Given the description of an element on the screen output the (x, y) to click on. 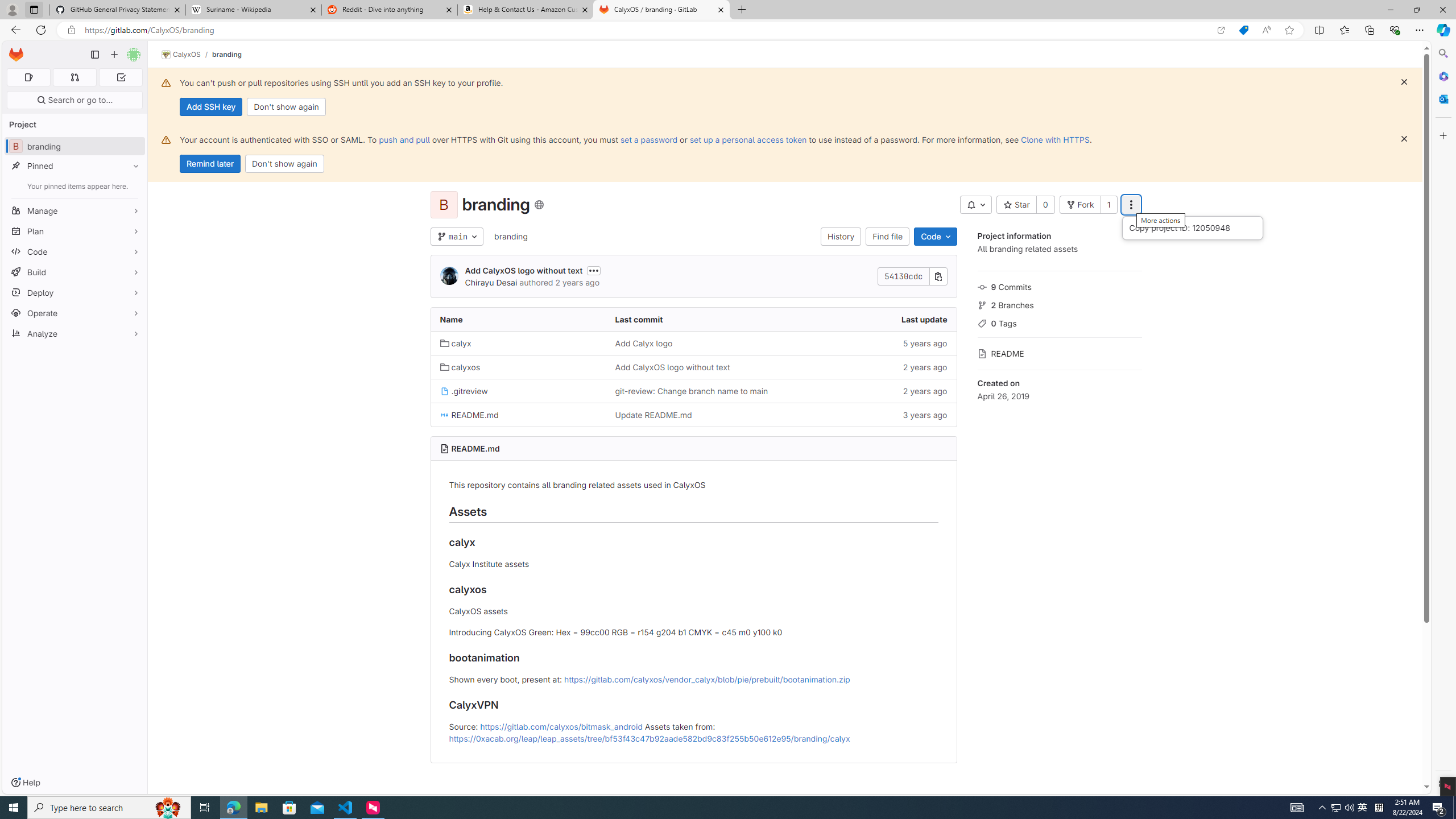
calyxos (459, 367)
More actions (1130, 204)
Fork (1079, 204)
CalyxOS (180, 54)
Class: s16 gl-icon gl-button-icon  (1404, 138)
branding (510, 235)
Chirayu Desai's avatar (448, 275)
1 (1108, 204)
https://gitlab.com/calyxos/bitmask_android (561, 726)
Add CalyxOS logo without text (693, 366)
